Given the description of an element on the screen output the (x, y) to click on. 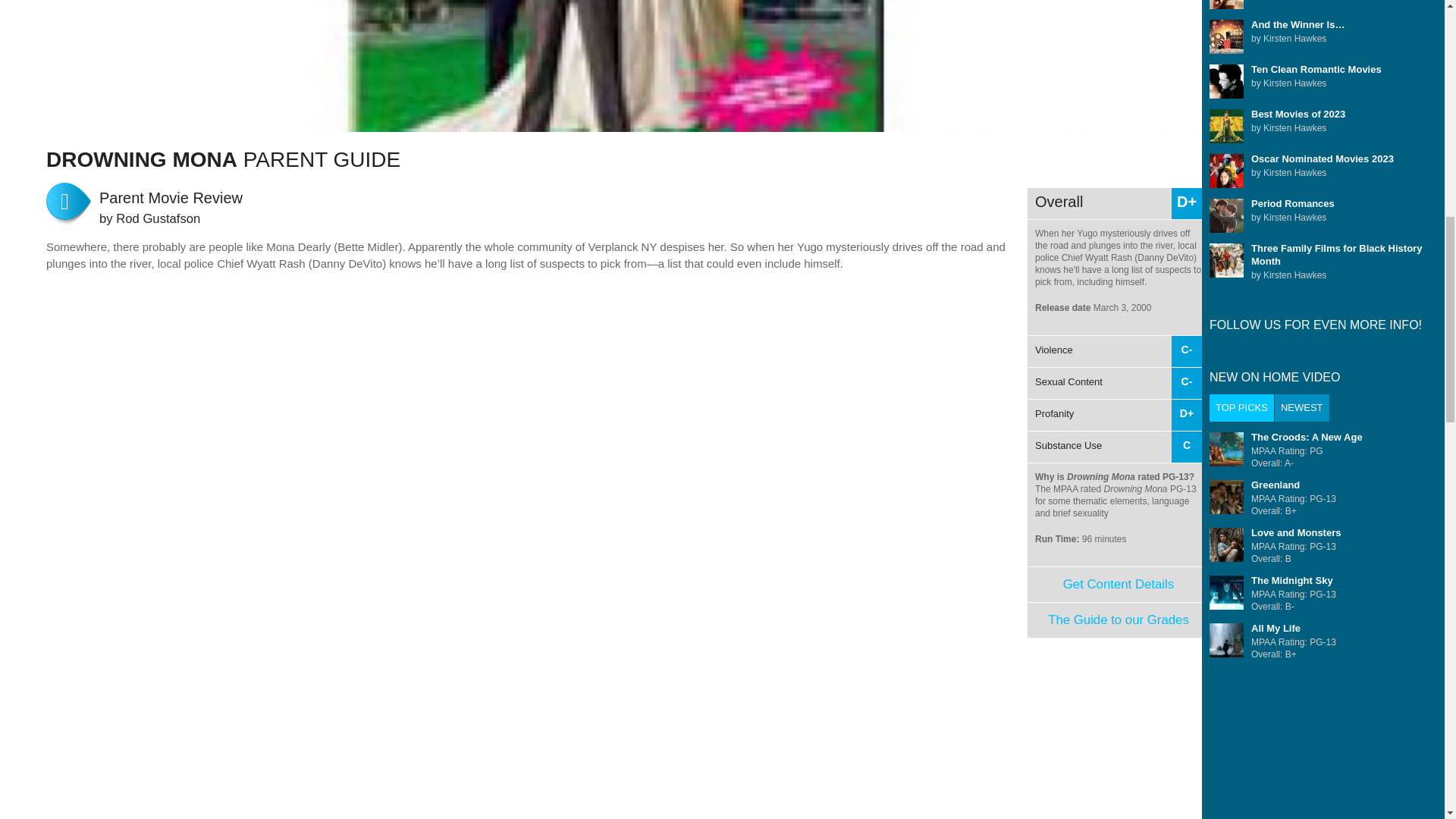
Get Content Details (1117, 584)
The Guide to our Grades (1118, 619)
